Given the description of an element on the screen output the (x, y) to click on. 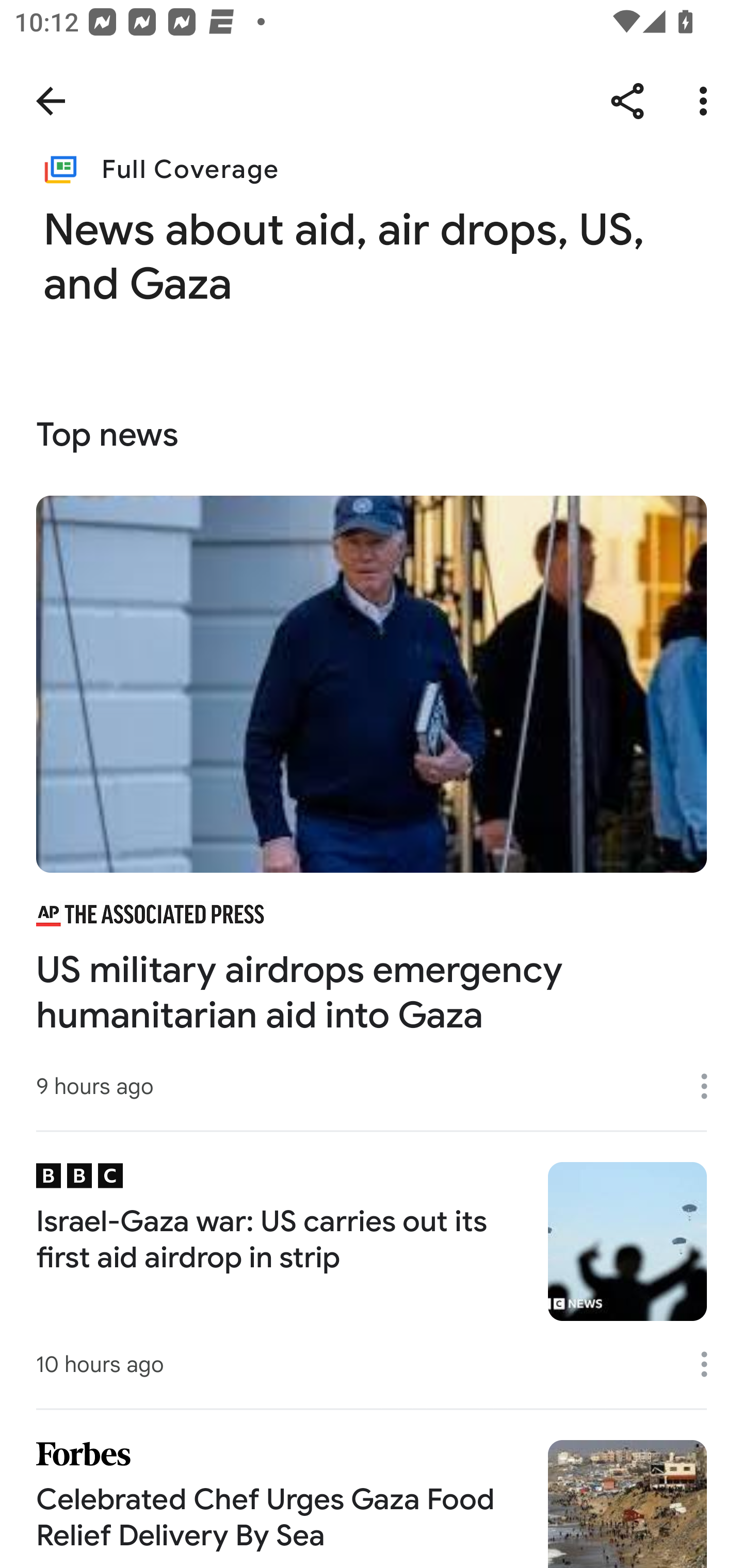
Navigate up (50, 101)
Share (626, 101)
More options (706, 101)
More options (711, 1085)
More options (711, 1364)
